Given the description of an element on the screen output the (x, y) to click on. 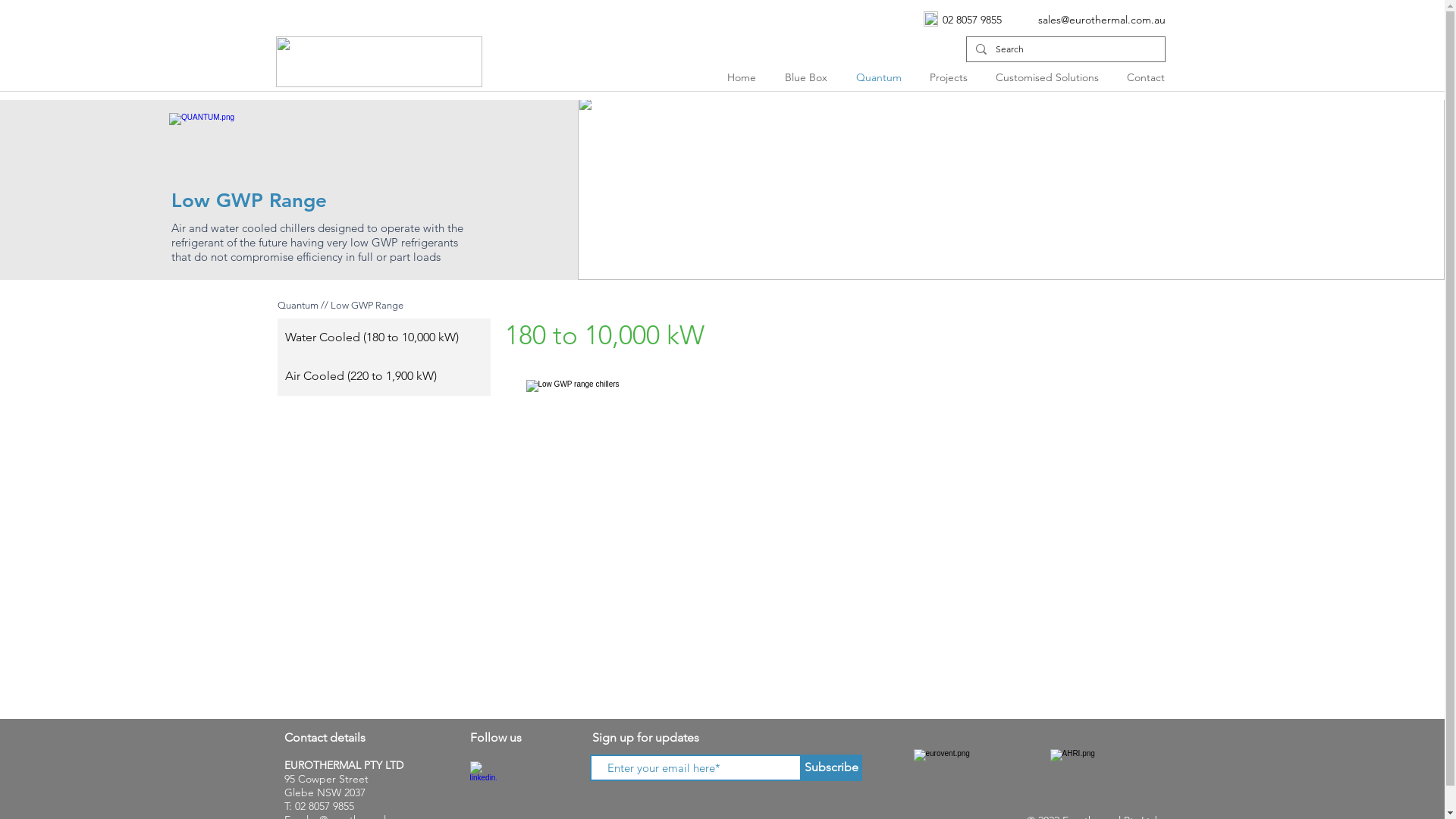
sales@eurothermal.com.au Element type: text (1100, 19)
Quantum Element type: text (297, 304)
02 8057 9855 Element type: text (971, 19)
Home Element type: text (744, 76)
Subscribe Element type: text (830, 767)
Blue Box Element type: text (808, 76)
Air Cooled (220 to 1,900 kW) Element type: text (383, 376)
Customised Solutions Element type: text (1049, 76)
Water Cooled (180 to 10,000 kW) Element type: text (383, 337)
Contact Element type: text (1147, 76)
02 8057 9855 Element type: text (323, 805)
Quantum Element type: text (881, 76)
Projects Element type: text (950, 76)
